Given the description of an element on the screen output the (x, y) to click on. 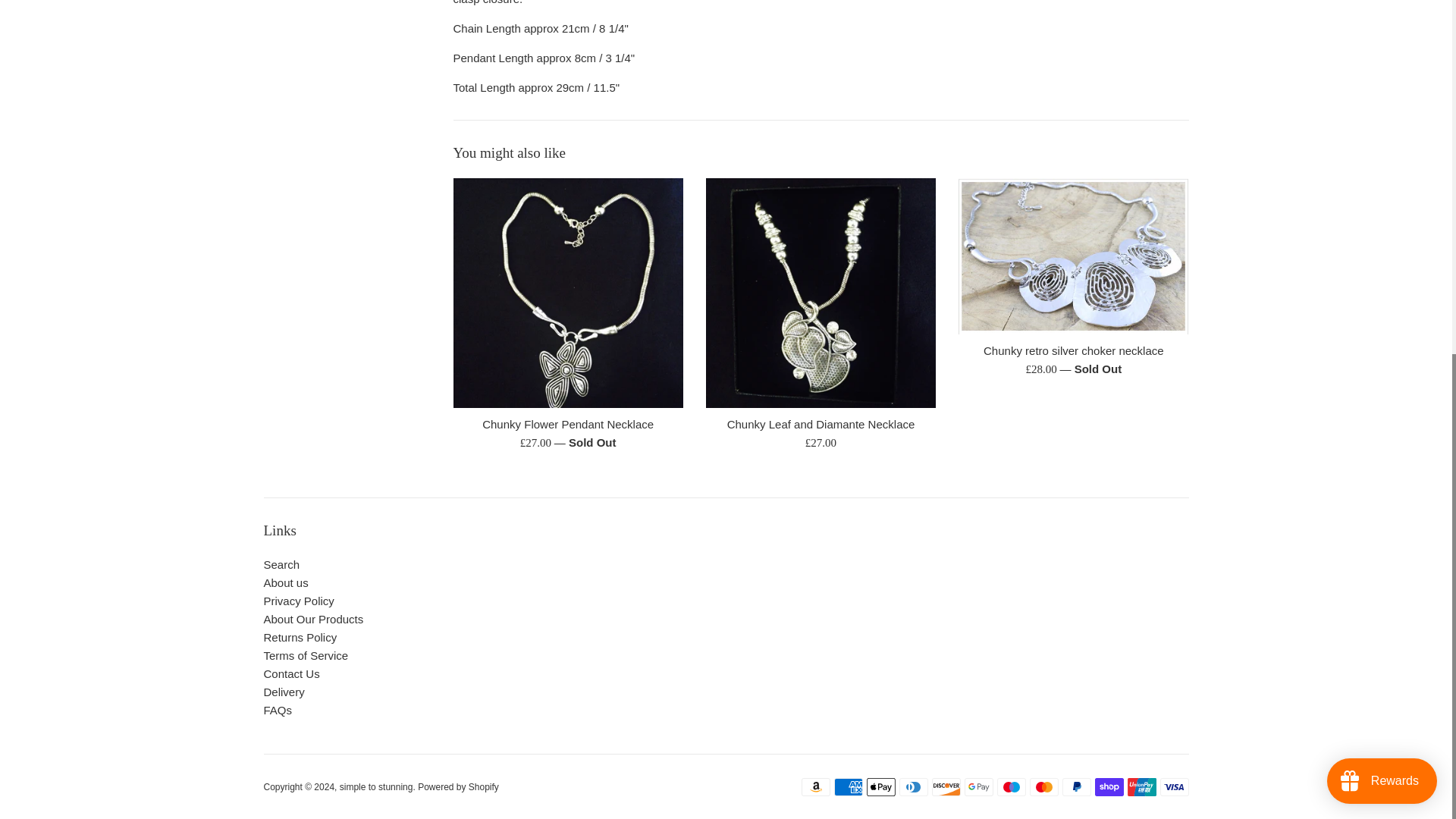
Chunky Leaf and Diamante Necklace (821, 292)
Chunky Flower Pendant Necklace (567, 292)
PayPal (1075, 787)
Visa (1174, 787)
Returns Policy (300, 636)
Maestro (1010, 787)
Chunky Flower Pendant Necklace (567, 423)
Diners Club (913, 787)
Mastercard (1043, 787)
About Our Products (313, 618)
Chunky retro silver choker necklace (1073, 350)
About us (285, 582)
Amazon (814, 787)
Chunky retro silver choker necklace (1073, 256)
Terms of Service (306, 655)
